Given the description of an element on the screen output the (x, y) to click on. 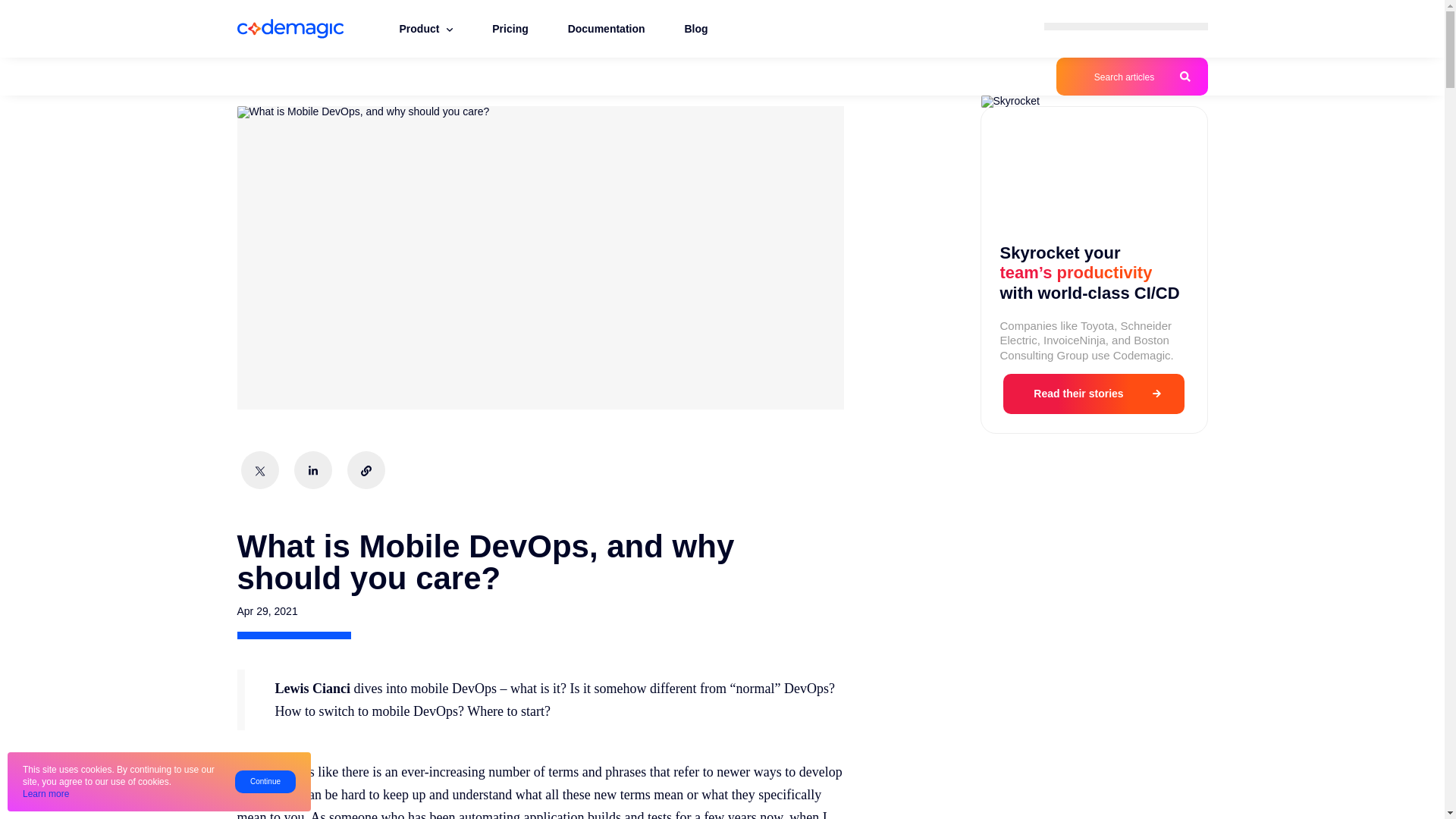
What is Mobile DevOps, and why should you care? (362, 111)
Skyrocket (1094, 101)
Blog (695, 27)
Pricing (510, 27)
Documentation (606, 27)
Product (425, 22)
